Given the description of an element on the screen output the (x, y) to click on. 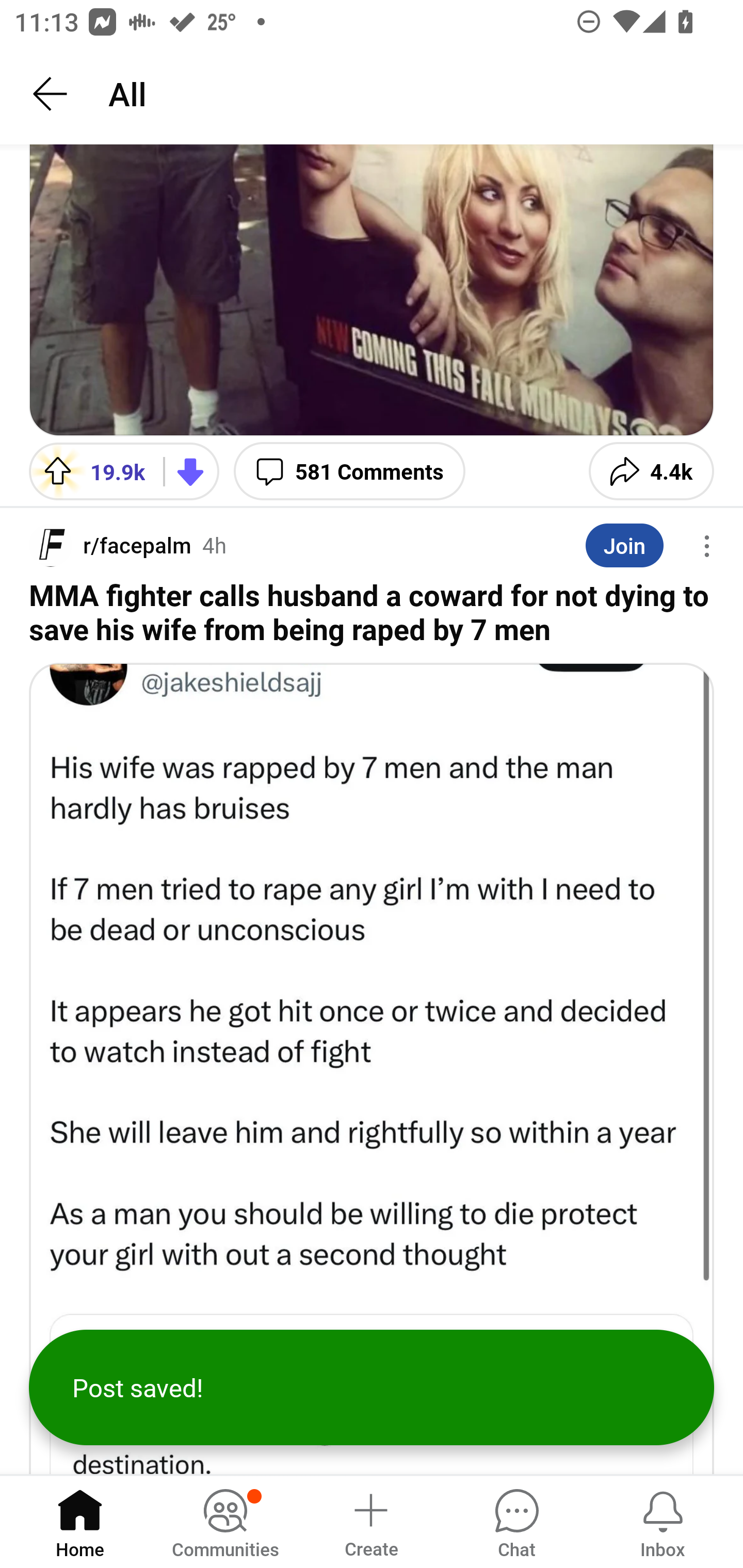
Image (371, 289)
Upvote 19.9k (88, 470)
581 Comments (349, 470)
Share 4.4k (651, 470)
Avatar r/facepalm (109, 545)
Join (624, 544)
Overflow menu (706, 546)
Image (371, 1068)
Home (80, 1520)
Communities, has notifications Communities (225, 1520)
Create a post Create (370, 1520)
Chat (516, 1520)
Inbox (662, 1520)
